Given the description of an element on the screen output the (x, y) to click on. 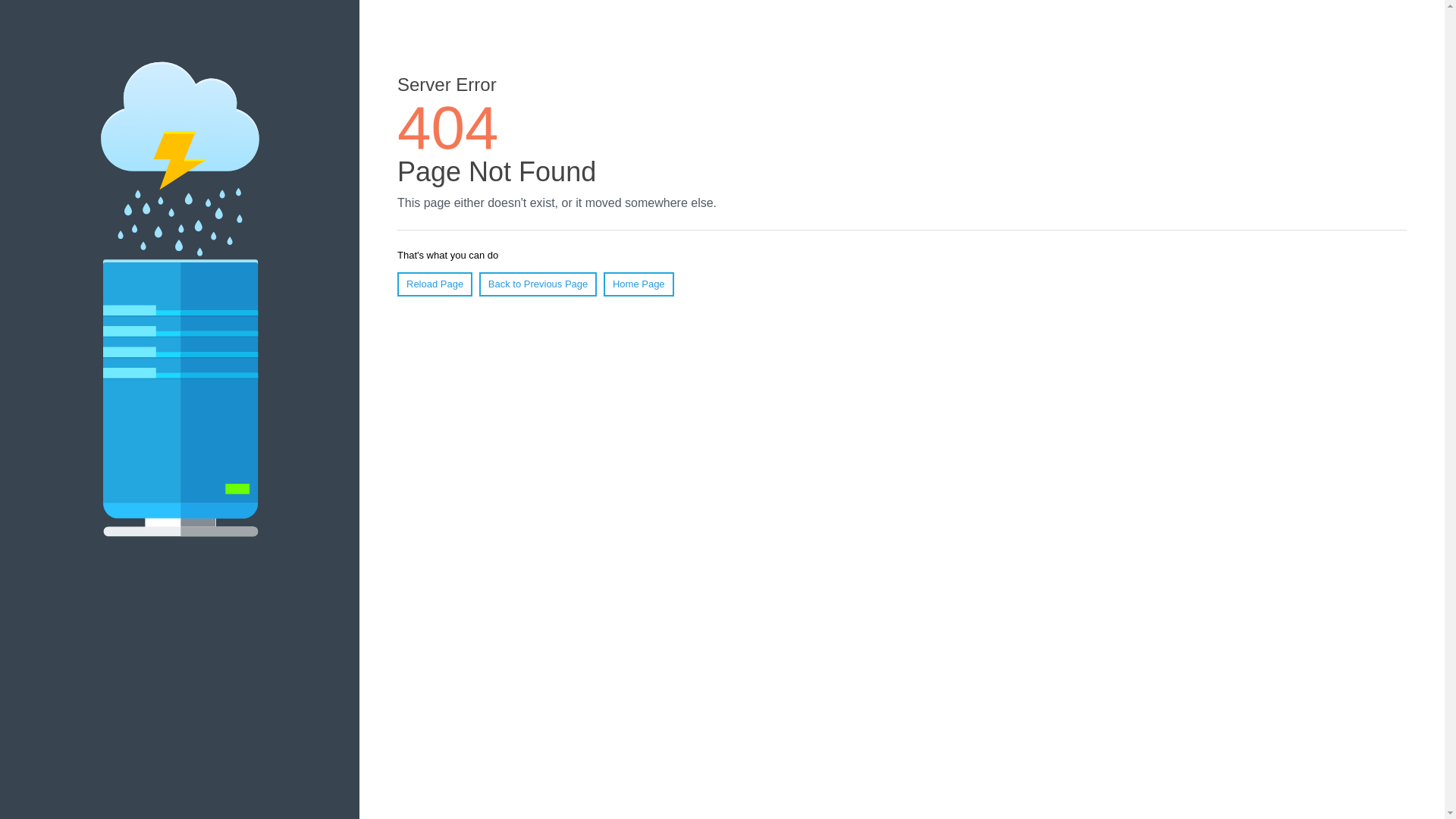
Reload Page Element type: text (434, 284)
Home Page Element type: text (638, 284)
Back to Previous Page Element type: text (538, 284)
